Given the description of an element on the screen output the (x, y) to click on. 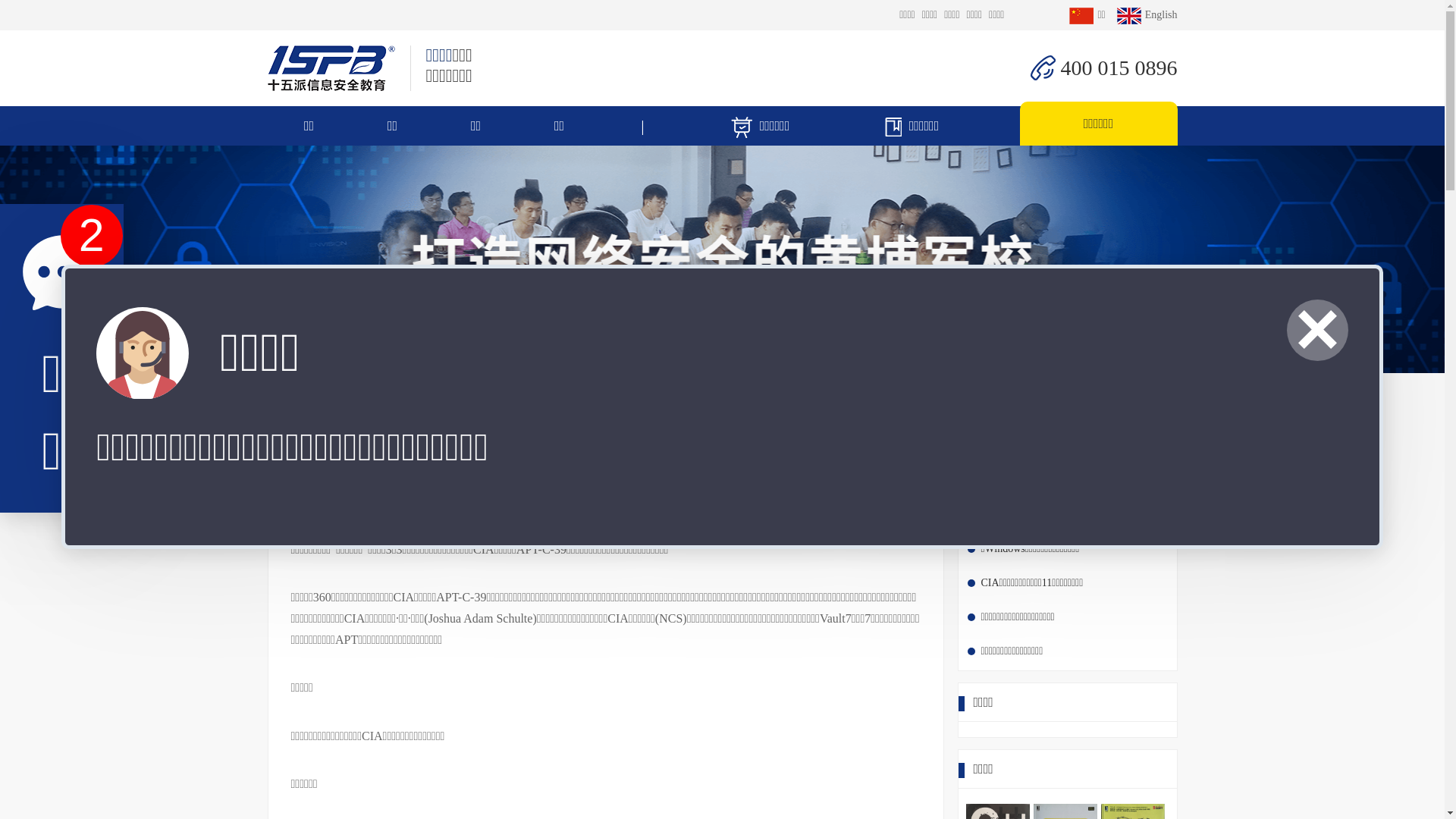
1 Element type: text (91, 235)
